Given the description of an element on the screen output the (x, y) to click on. 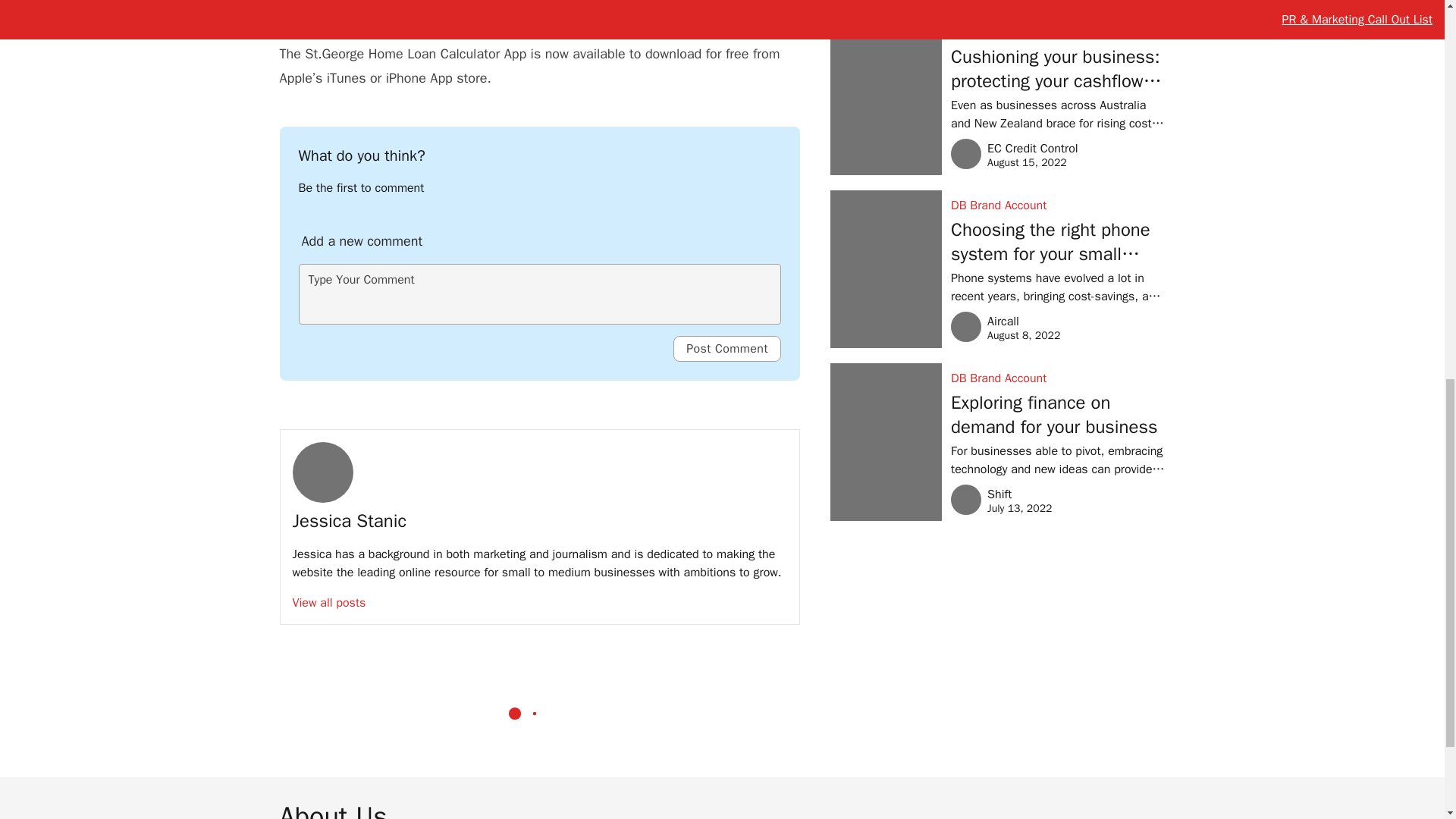
View all posts (329, 602)
Post Comment (726, 348)
DB Brand Account (1057, 32)
